Given the description of an element on the screen output the (x, y) to click on. 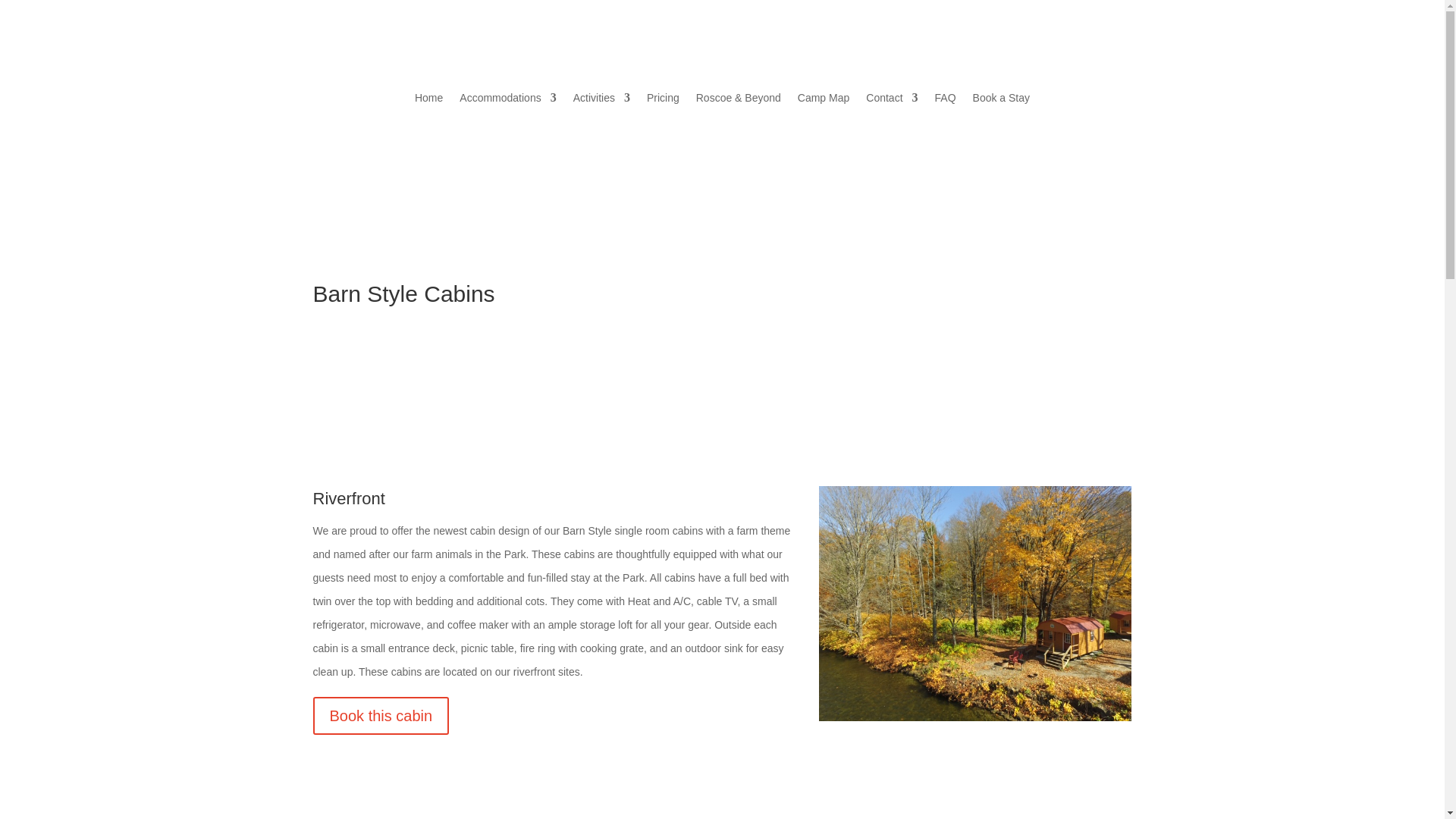
FAQ (945, 100)
Book this cabin (380, 715)
Activities (601, 100)
Book a Stay (1001, 100)
Contact (891, 100)
Pricing (662, 100)
Accommodations (508, 100)
Camp Map (822, 100)
Home (428, 100)
